Given the description of an element on the screen output the (x, y) to click on. 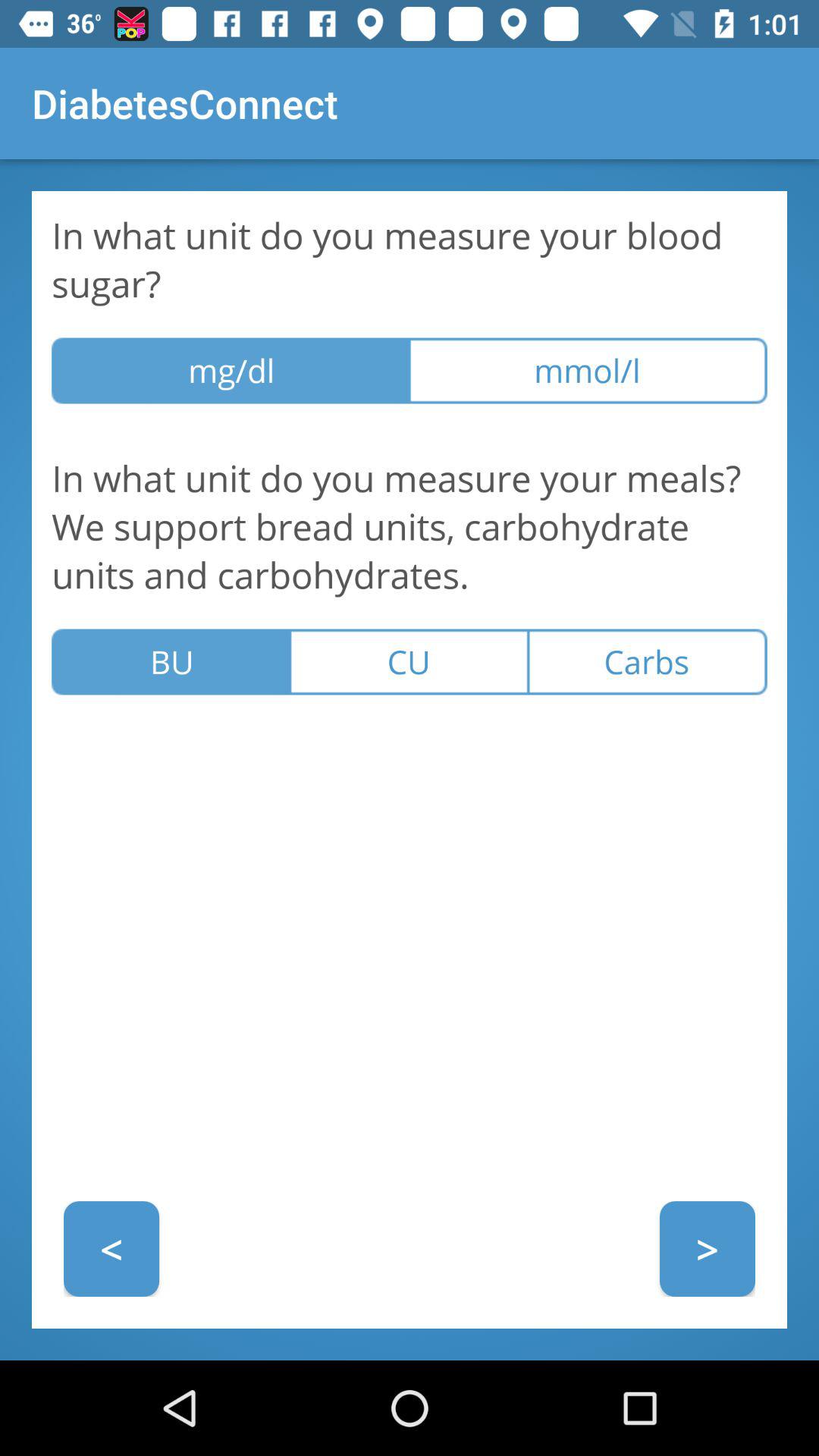
select the > item (707, 1248)
